Given the description of an element on the screen output the (x, y) to click on. 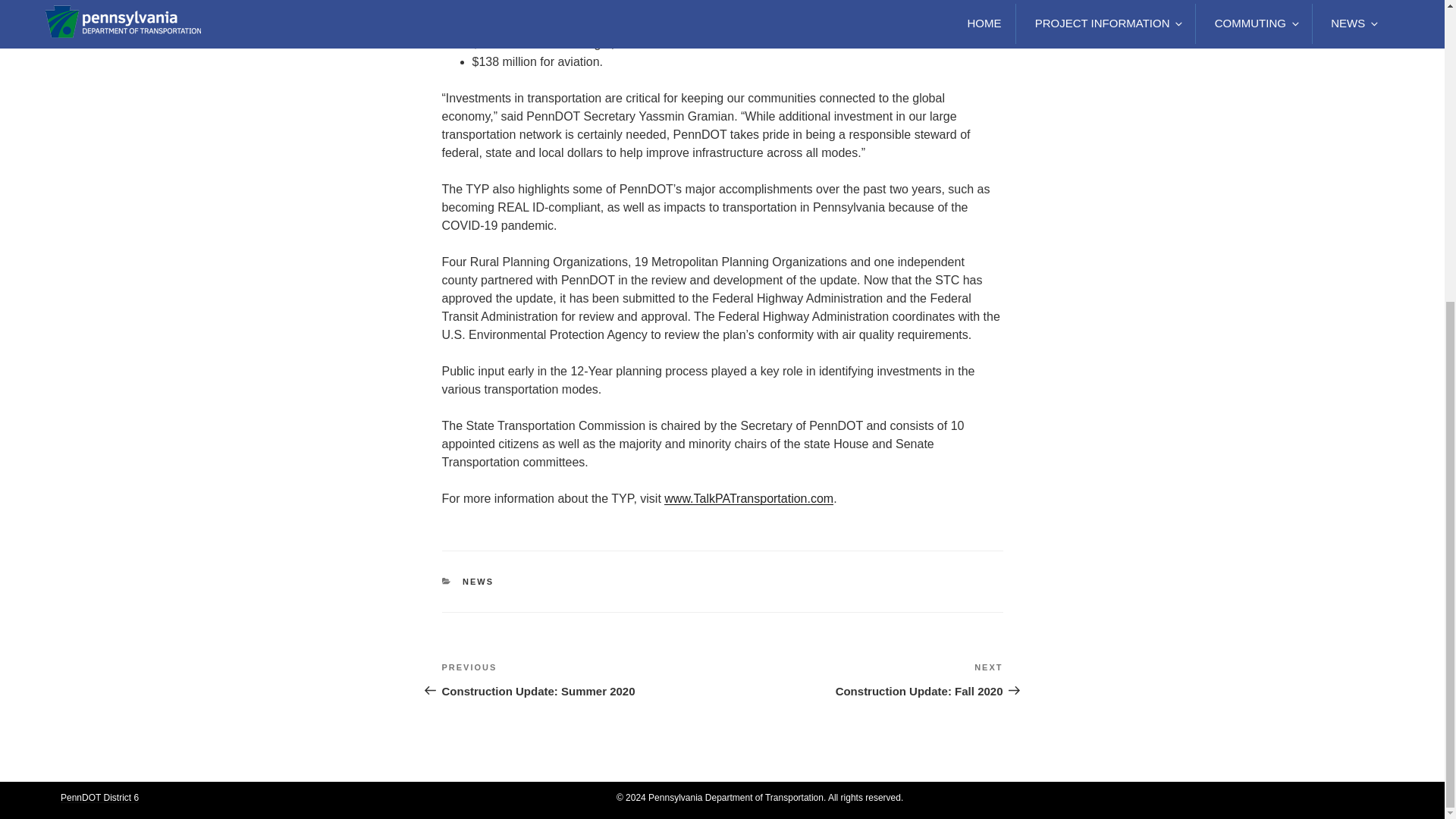
www.TalkPATransportation.com (747, 498)
